Given the description of an element on the screen output the (x, y) to click on. 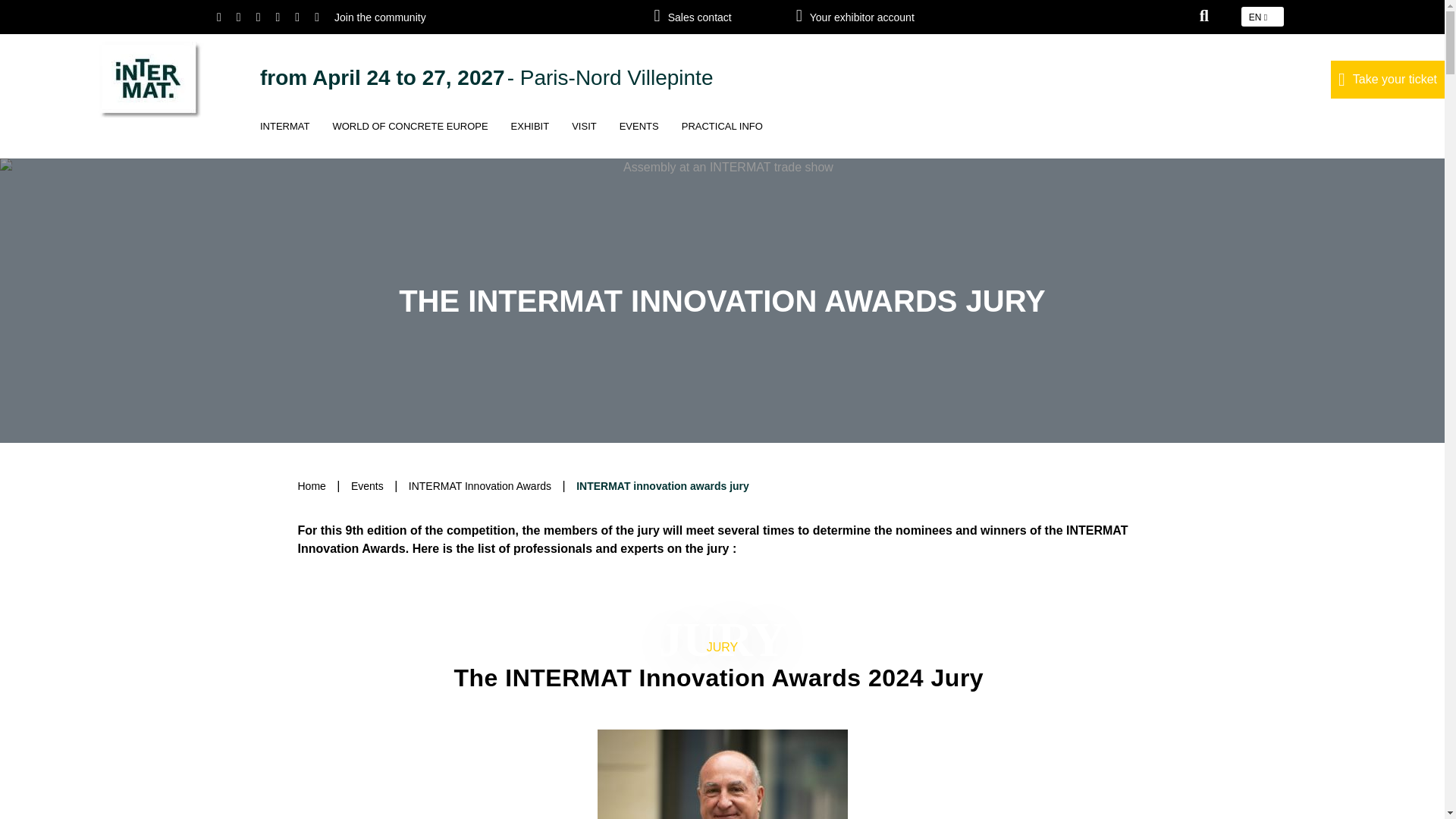
WOCE (409, 137)
Sales contact (717, 17)
EN (1262, 16)
Your exhibitor account (880, 17)
INTERMAT (284, 137)
Exhibit at INTERMAT (529, 137)
EXHIBIT (529, 137)
WORLD OF CONCRETE EUROPE (409, 137)
VISIT (584, 137)
Discover INTERMAT (284, 137)
